Given the description of an element on the screen output the (x, y) to click on. 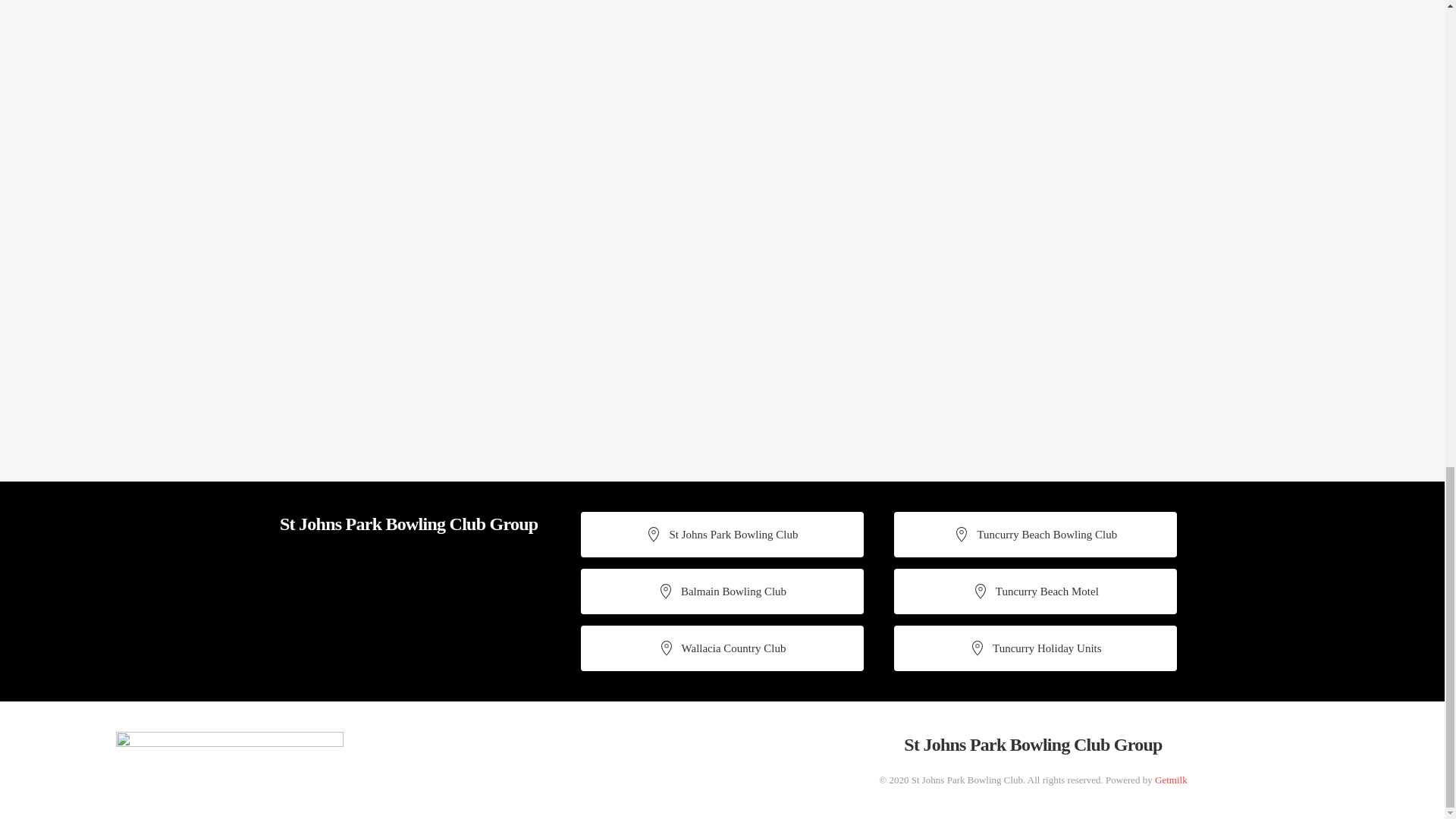
Tuncurry Beach Motel (1034, 591)
Tuncurry Holiday Units (1034, 647)
Tuncurry Beach Bowling Club (1034, 534)
Balmain Bowling Club (721, 591)
Wallacia Country Club (721, 647)
St Johns Park Bowling Club (721, 534)
